Given the description of an element on the screen output the (x, y) to click on. 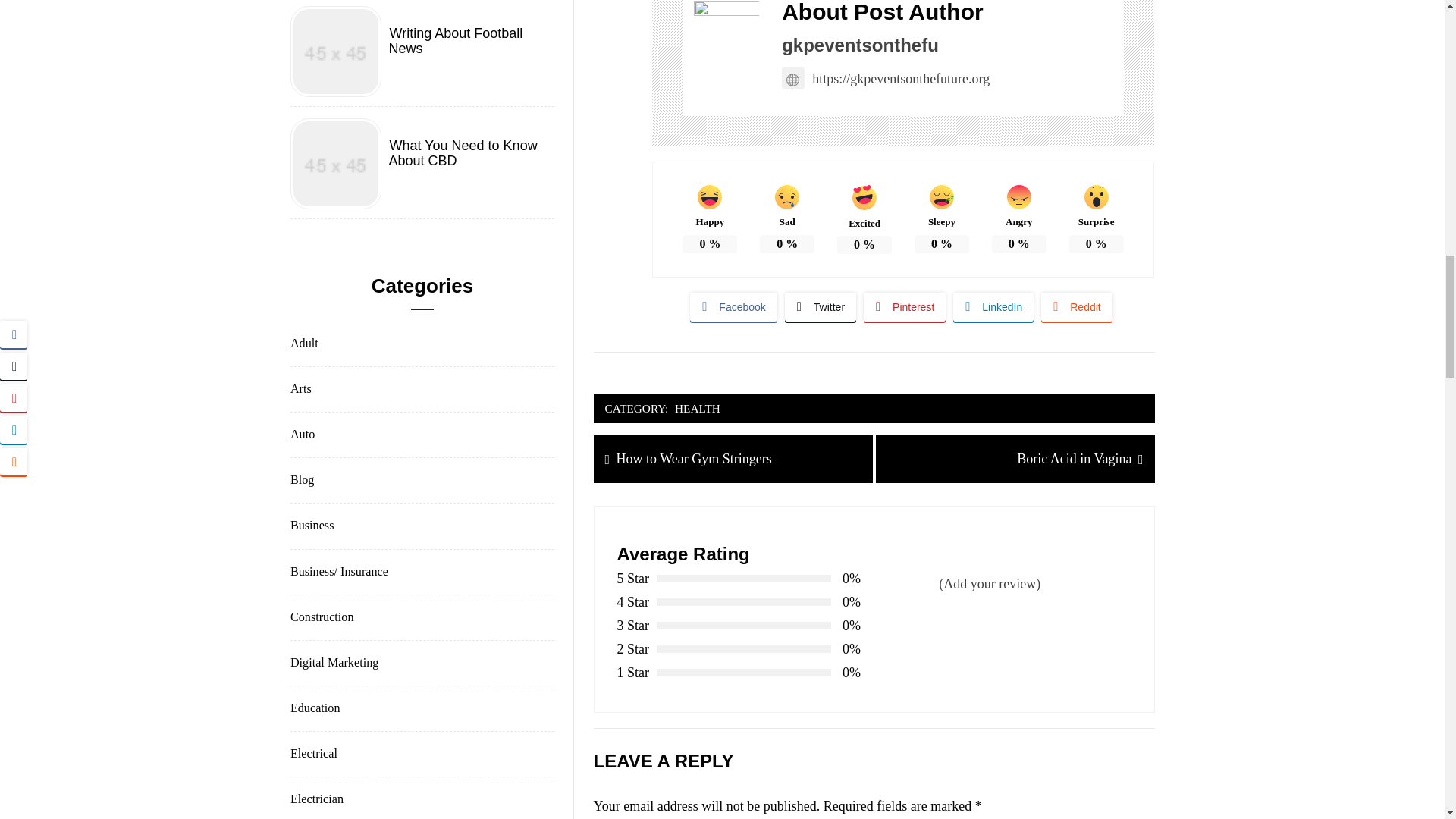
gkpeventsonthefu (860, 45)
